Given the description of an element on the screen output the (x, y) to click on. 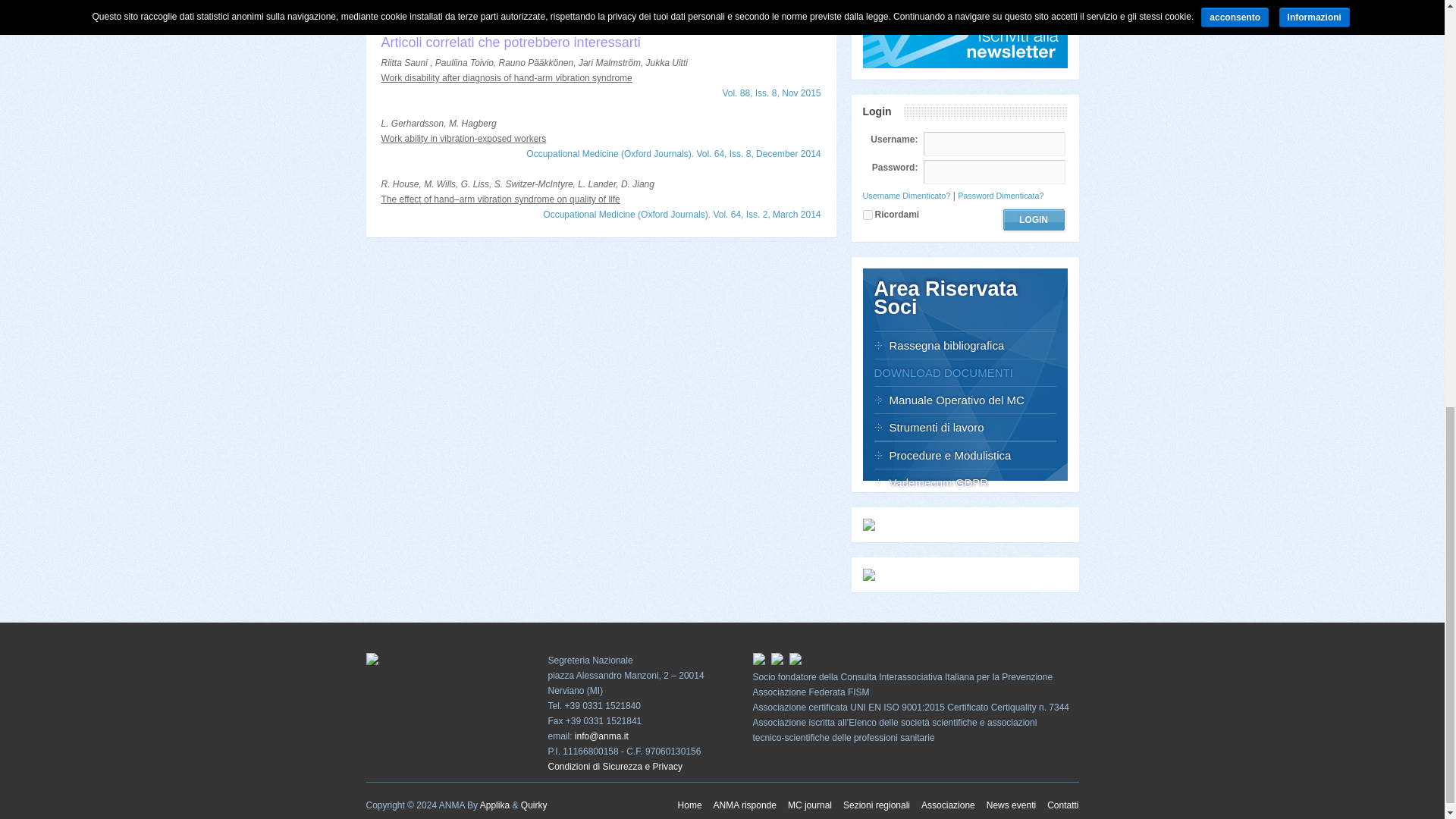
LOGIN (1033, 219)
Password (993, 171)
forever (867, 214)
Username (993, 143)
